Given the description of an element on the screen output the (x, y) to click on. 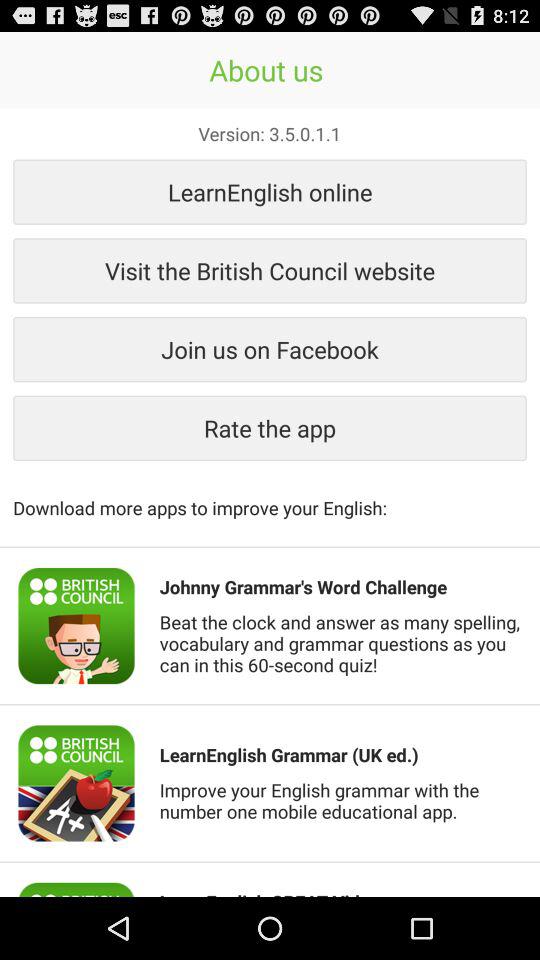
swipe until the visit the british icon (269, 270)
